Given the description of an element on the screen output the (x, y) to click on. 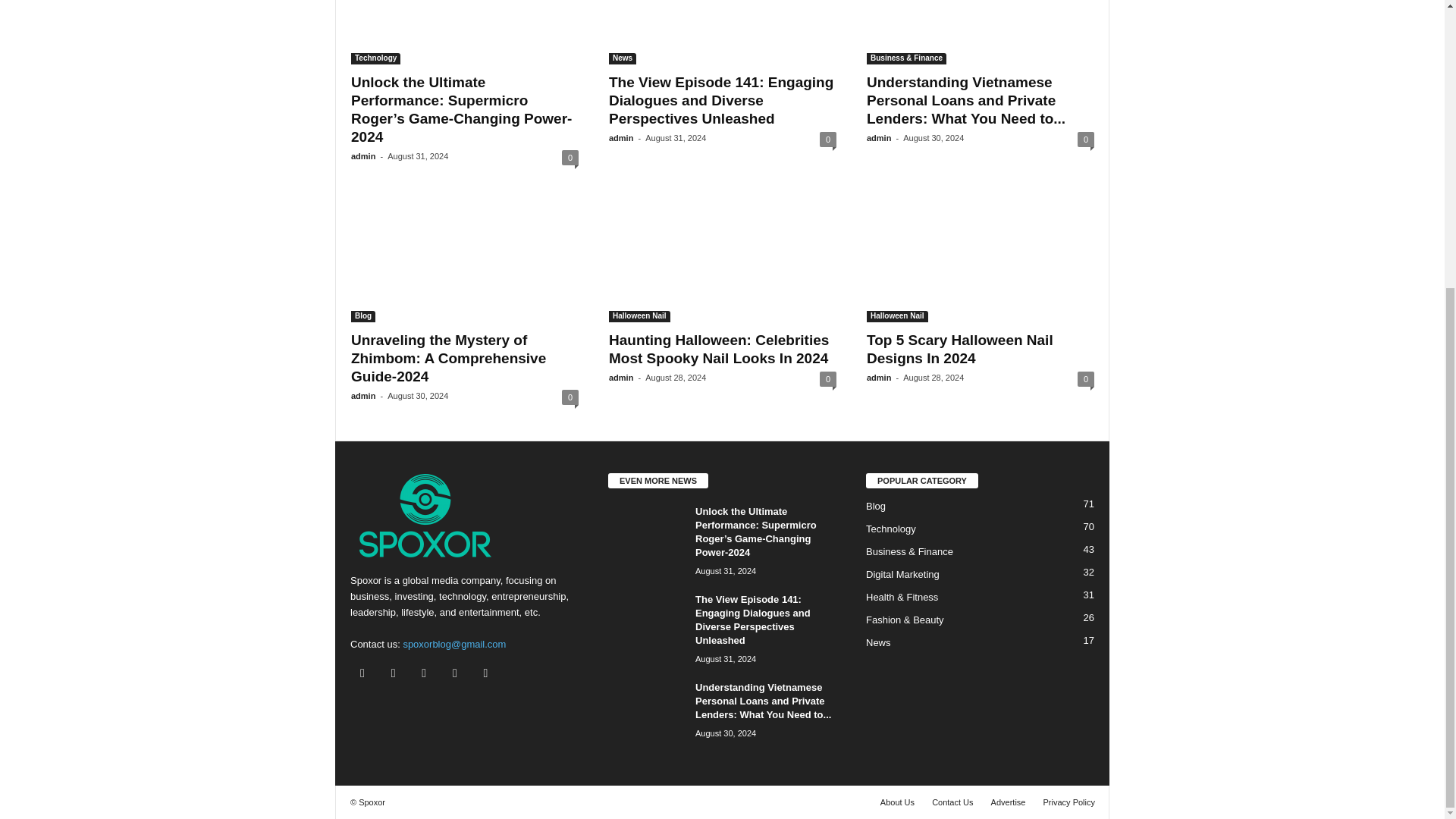
admin (362, 155)
News (622, 58)
0 (570, 157)
Technology (375, 58)
